Given the description of an element on the screen output the (x, y) to click on. 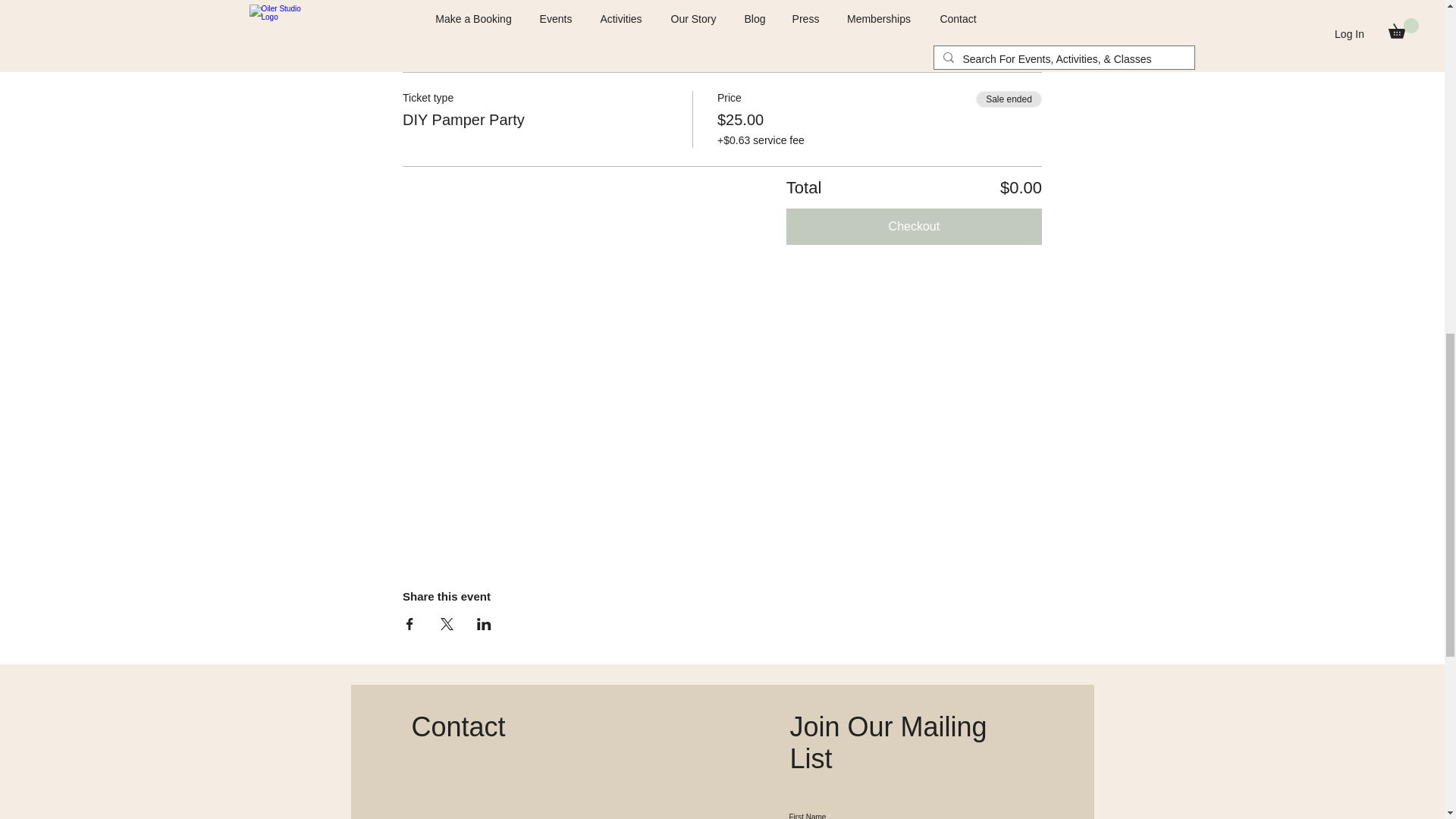
Checkout (914, 226)
